Given the description of an element on the screen output the (x, y) to click on. 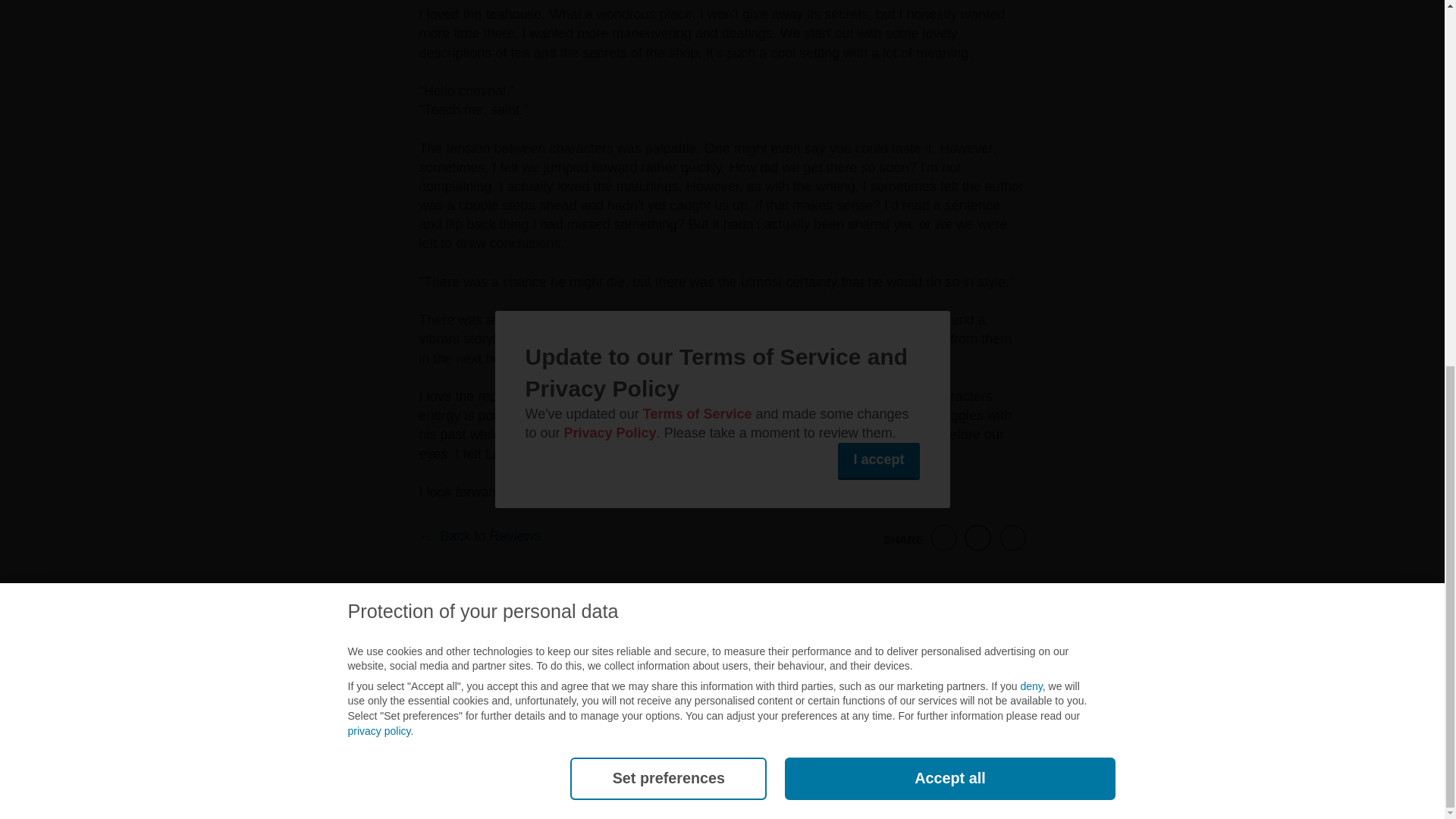
Set preferences (668, 119)
Follow BookishFirst on Pinterest (845, 691)
Accept all (949, 119)
Share via email (944, 537)
FAQs (399, 639)
Privacy Policy (478, 639)
BookishFirst logo (630, 691)
privacy policy (378, 71)
Follow BookishFirst on Facebook (720, 691)
Follow BookishFirst on Instagram (805, 698)
Privacy Settings (588, 639)
Share via Twitter (1012, 537)
About BookishFirst (834, 639)
Publishers (331, 639)
Share via Facebook (978, 537)
